Given the description of an element on the screen output the (x, y) to click on. 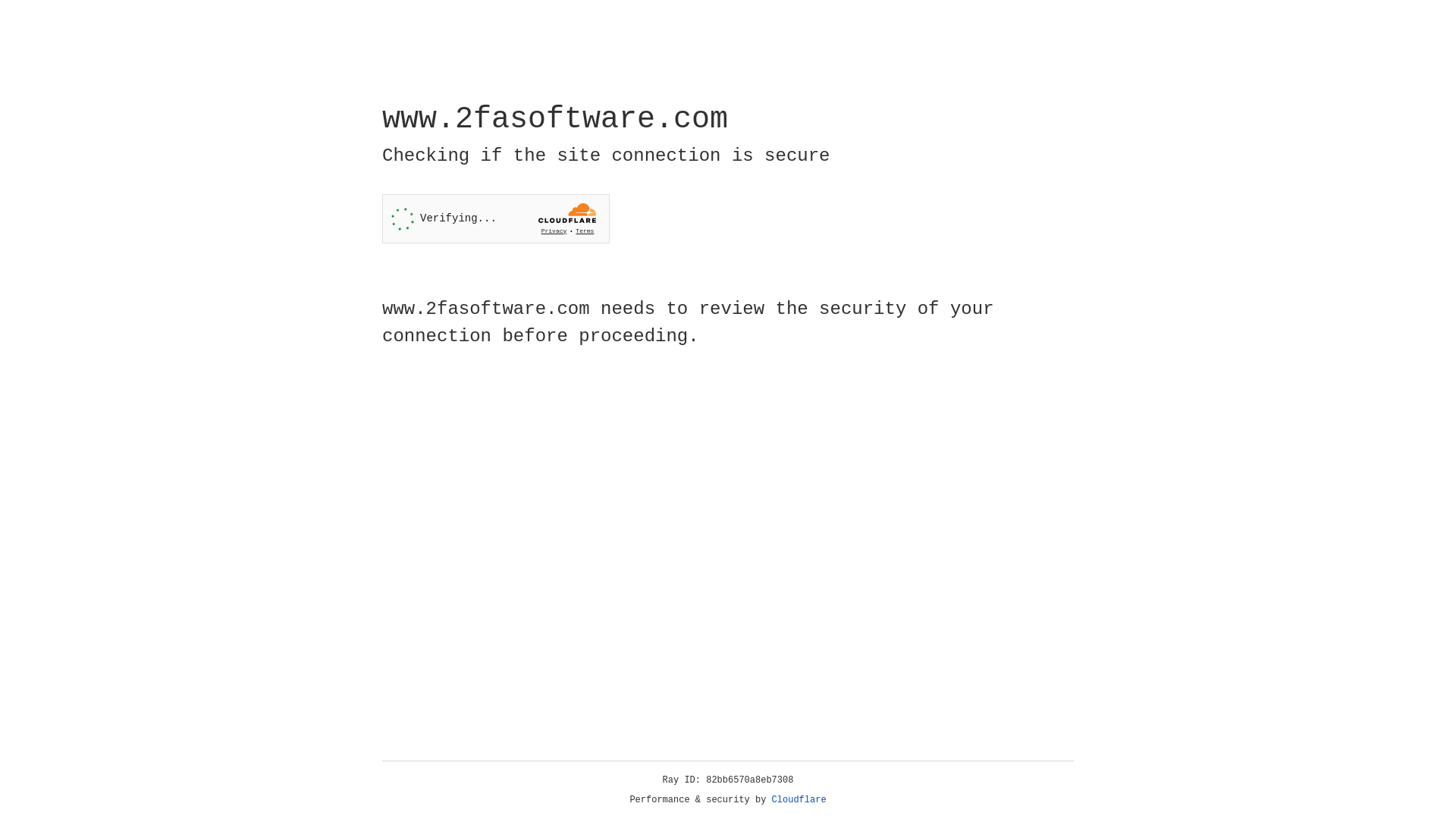
Cloudflare Element type: text (798, 799)
Widget containing a Cloudflare security challenge Element type: hover (495, 218)
